Given the description of an element on the screen output the (x, y) to click on. 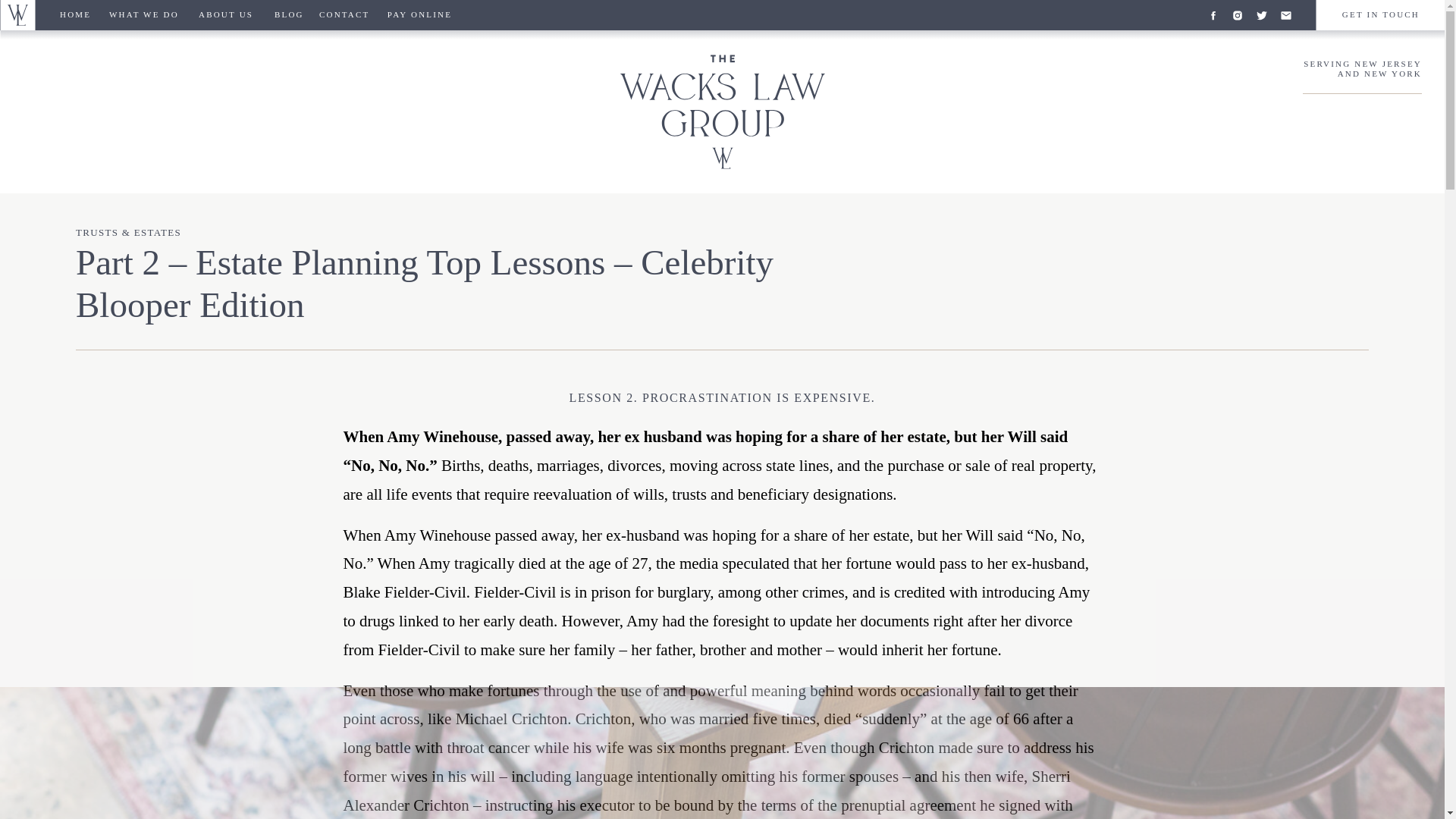
WHAT WE DO (146, 15)
BLOG (288, 15)
GET IN TOUCH (1378, 15)
ABOUT US (227, 15)
HOME (76, 15)
PAY ONLINE (419, 15)
CONTACT (343, 15)
